Given the description of an element on the screen output the (x, y) to click on. 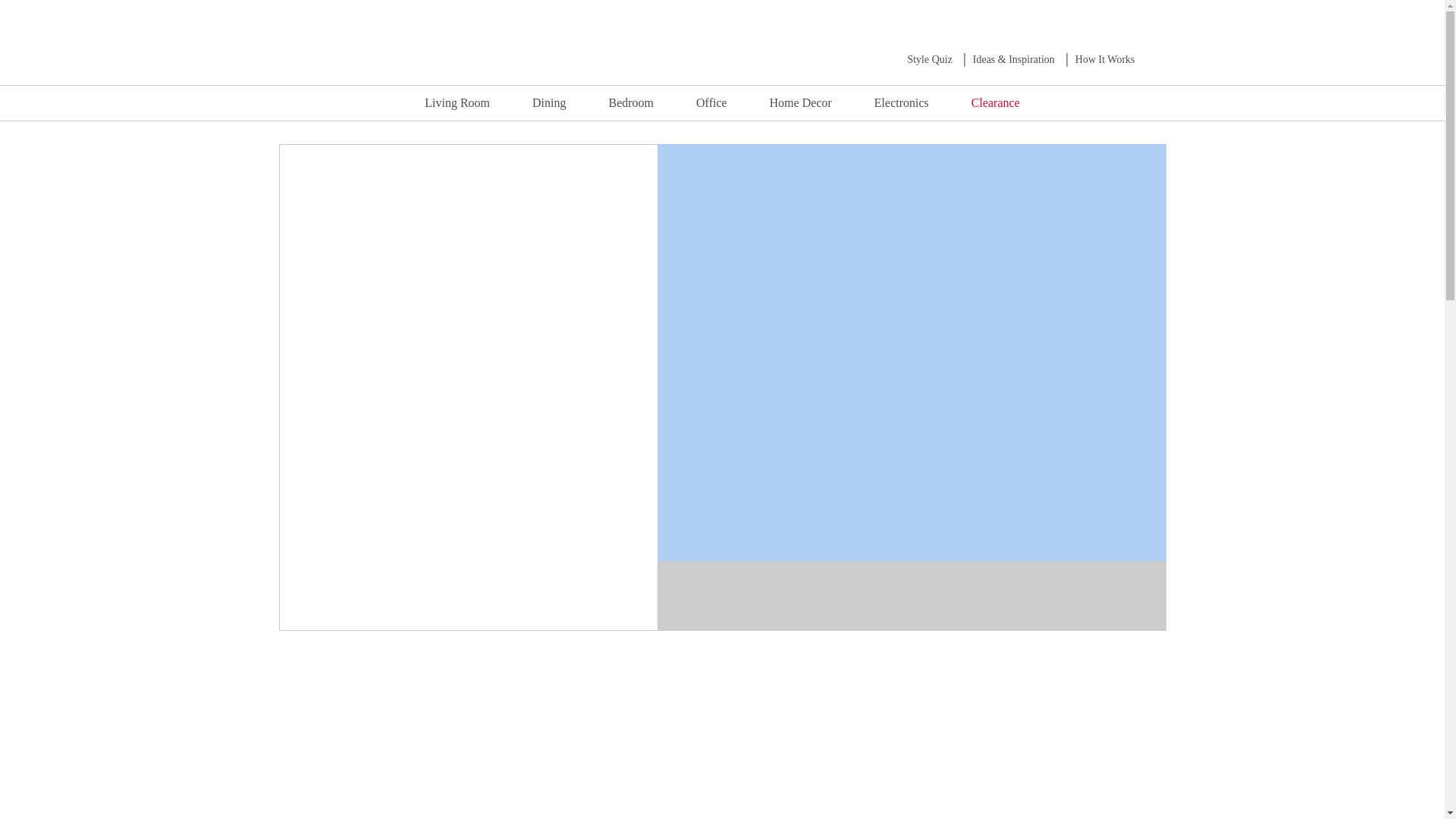
How It Works (1106, 59)
Electronics (901, 102)
Home Decor (800, 102)
Office (711, 102)
Bedroom (630, 102)
Style Quiz (929, 59)
Clearance (995, 102)
Dining (548, 102)
Living Room (457, 102)
